Given the description of an element on the screen output the (x, y) to click on. 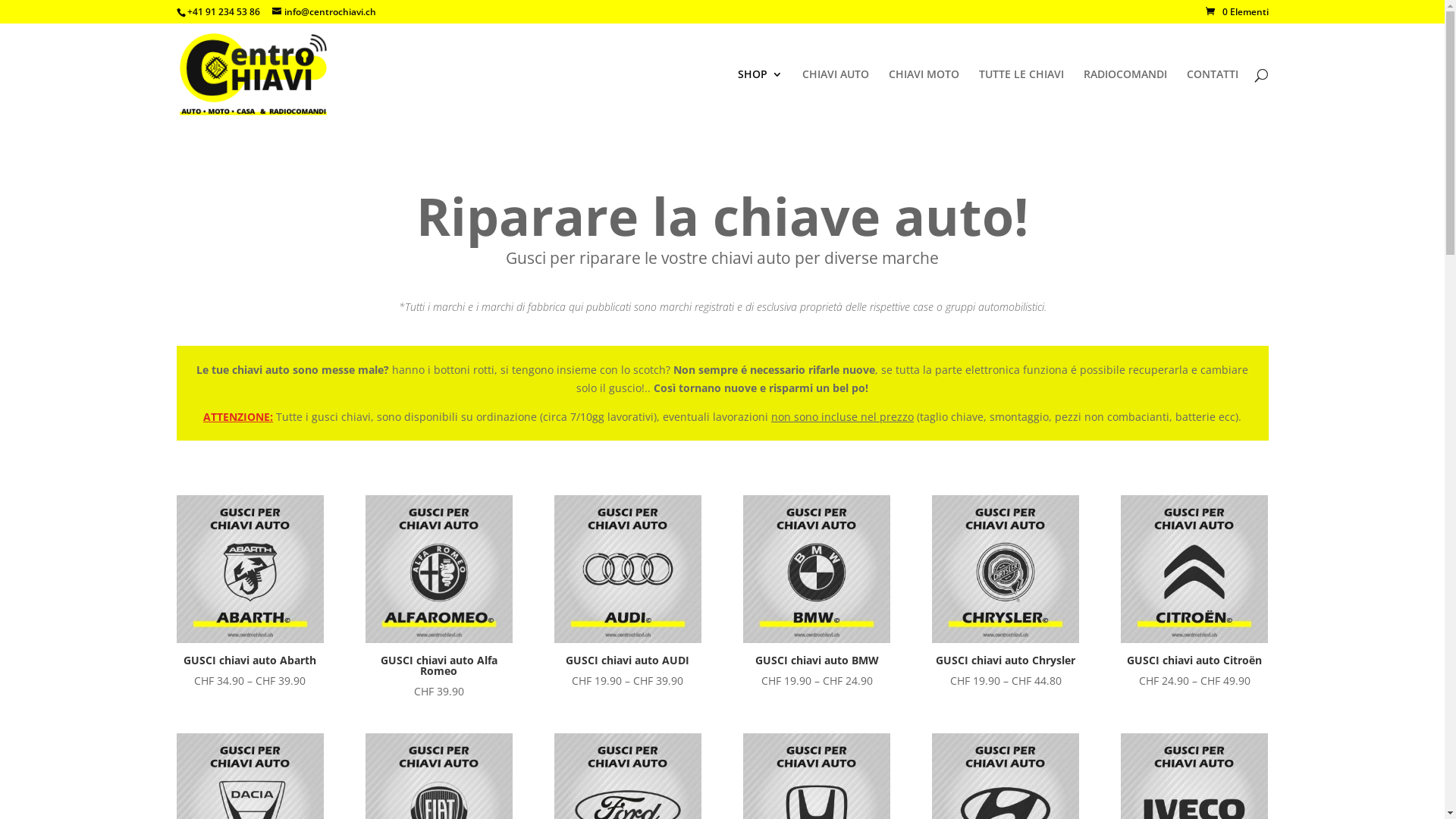
0 Elementi Element type: text (1236, 11)
RADIOCOMANDI Element type: text (1124, 97)
TUTTE LE CHIAVI Element type: text (1020, 97)
GUSCI chiavi auto Alfa Romeo
CHF 39.90 Element type: text (438, 597)
CHIAVI MOTO Element type: text (923, 97)
CONTATTI Element type: text (1211, 97)
CHIAVI AUTO Element type: text (835, 97)
info@centrochiavi.ch Element type: text (323, 11)
SHOP Element type: text (759, 97)
